Given the description of an element on the screen output the (x, y) to click on. 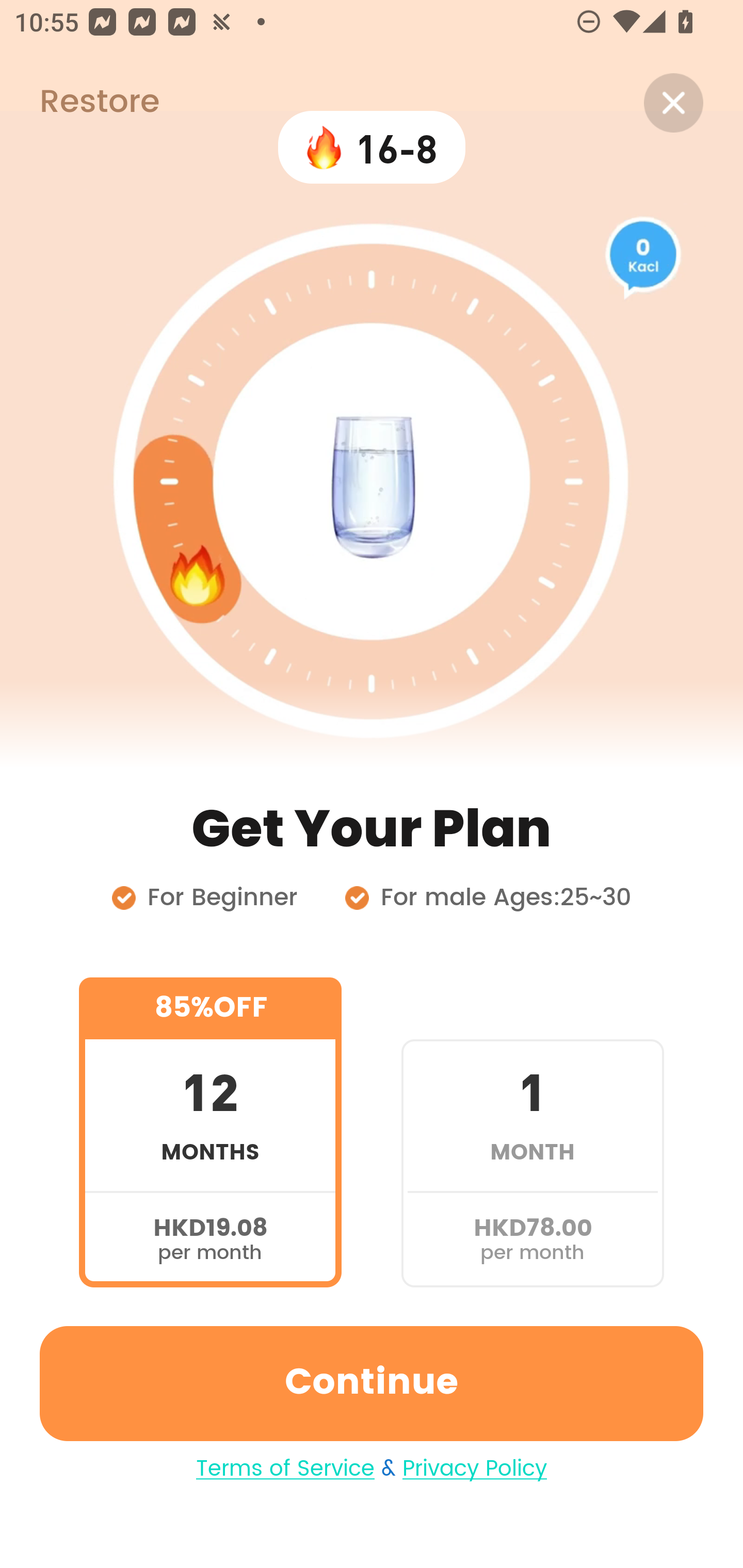
Restore (79, 102)
85%OFF 12 MONTHS per month HKD19.08 (209, 1131)
1 MONTH per month HKD78.00 (532, 1131)
Continue (371, 1383)
